Given the description of an element on the screen output the (x, y) to click on. 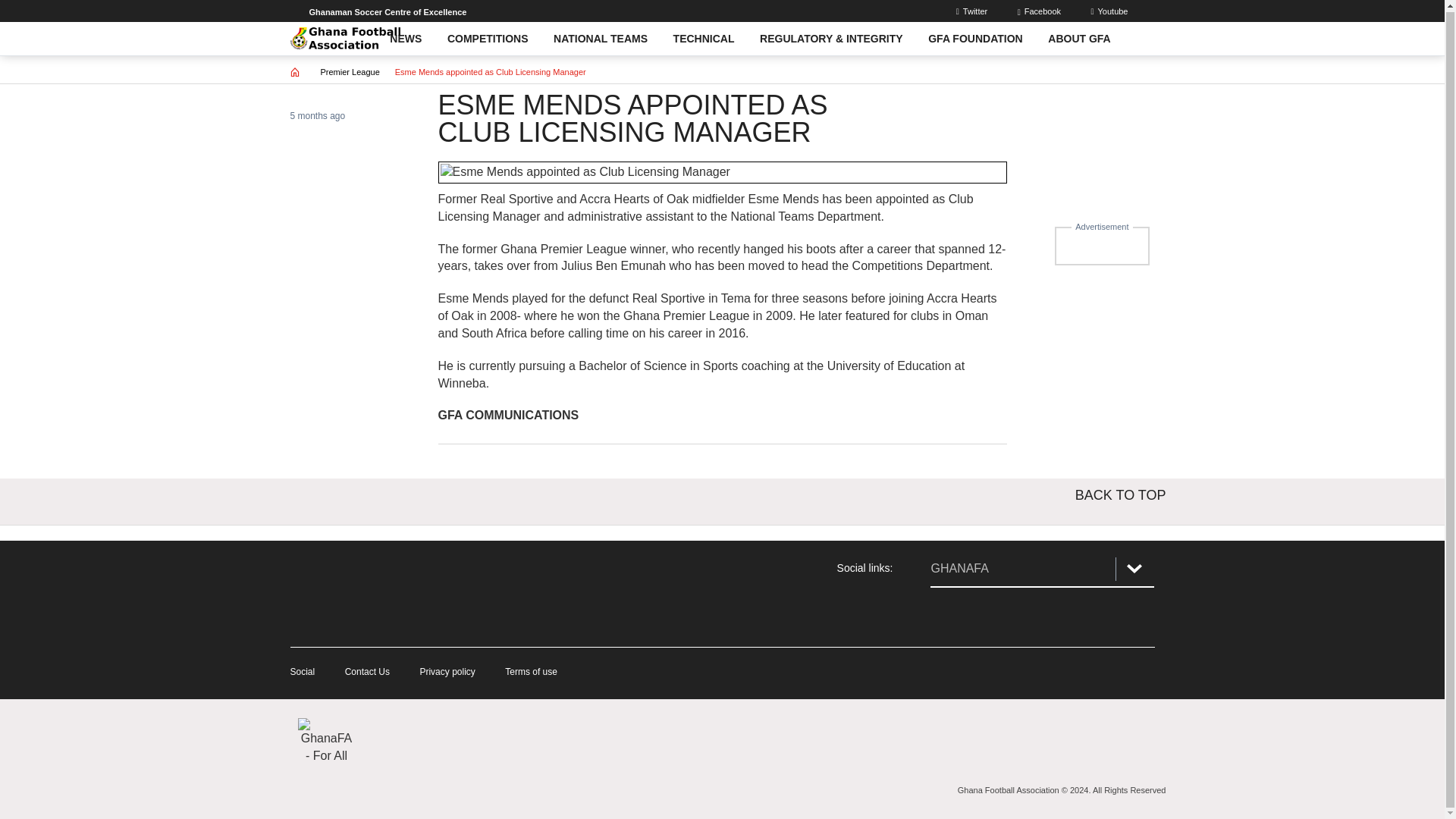
View the GhanaFA YouTube channel (1133, 617)
sign in (973, 11)
COMPETITIONS (487, 38)
sign in (1040, 11)
sign in (1110, 11)
NEWS (406, 38)
View the GhanaFA Facebook channel (950, 617)
View the GhanaFA Twitter channel (1042, 617)
